Given the description of an element on the screen output the (x, y) to click on. 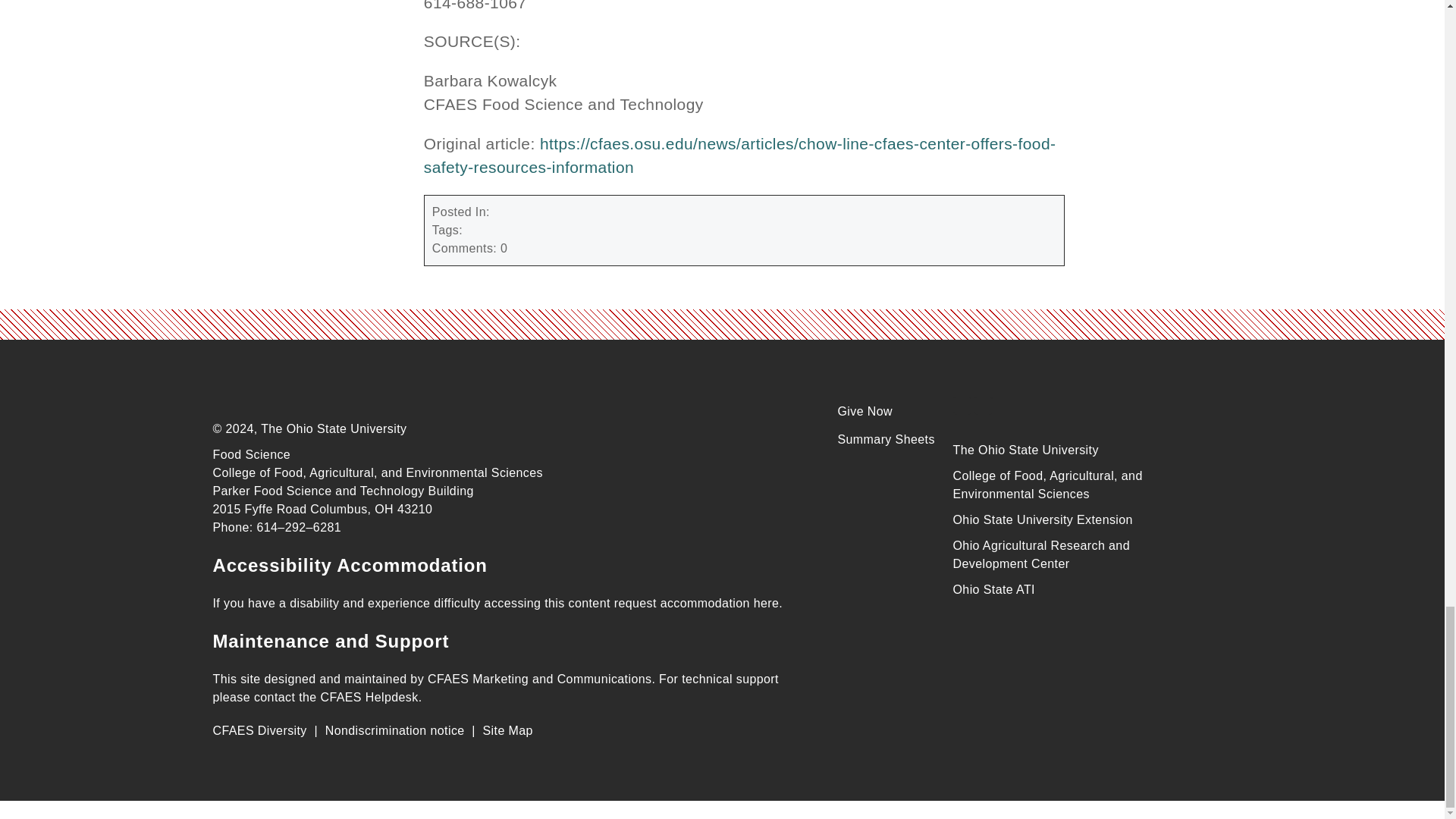
CFAES Home (325, 394)
